Given the description of an element on the screen output the (x, y) to click on. 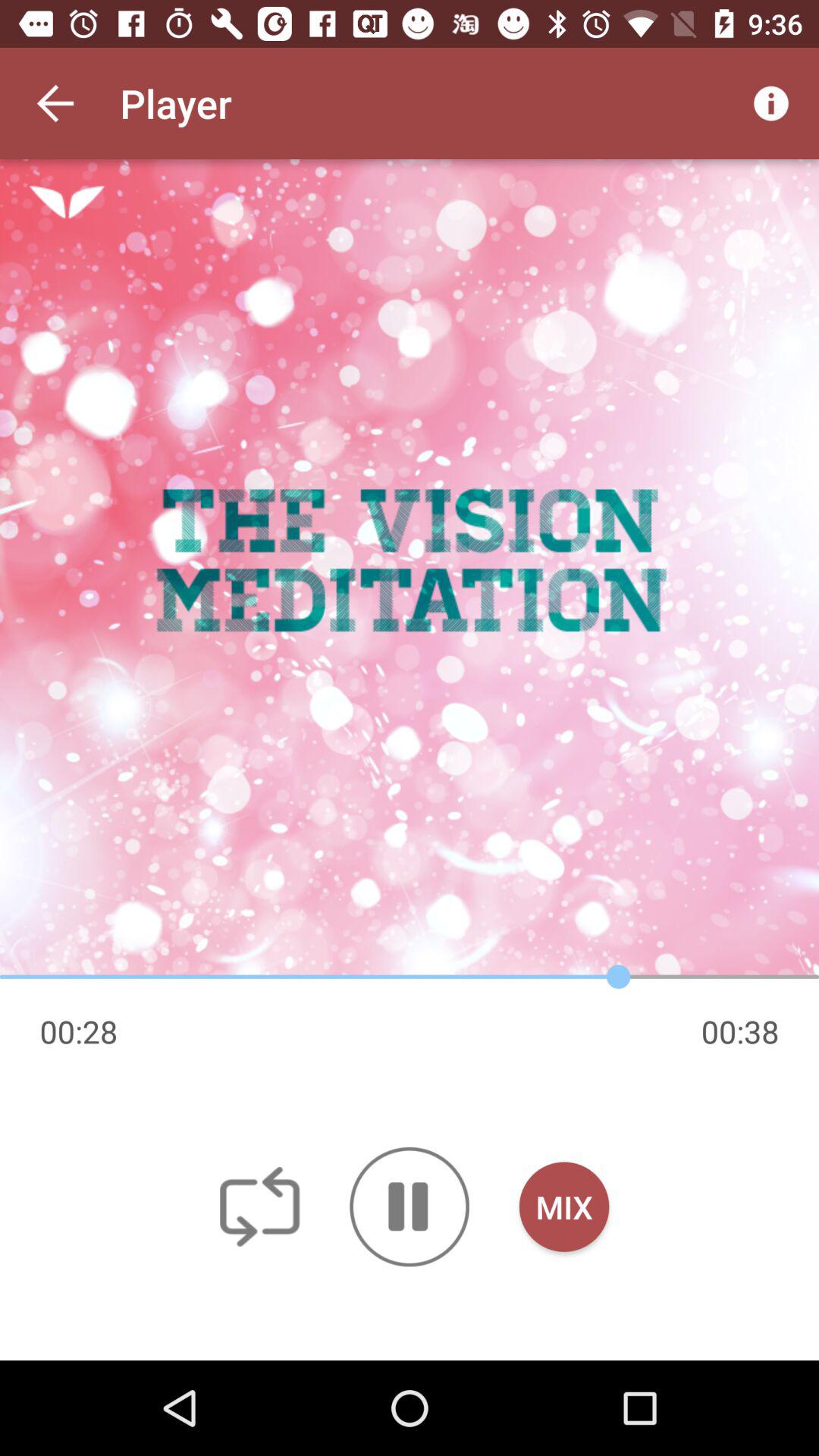
turn off the mix button (564, 1206)
